Given the description of an element on the screen output the (x, y) to click on. 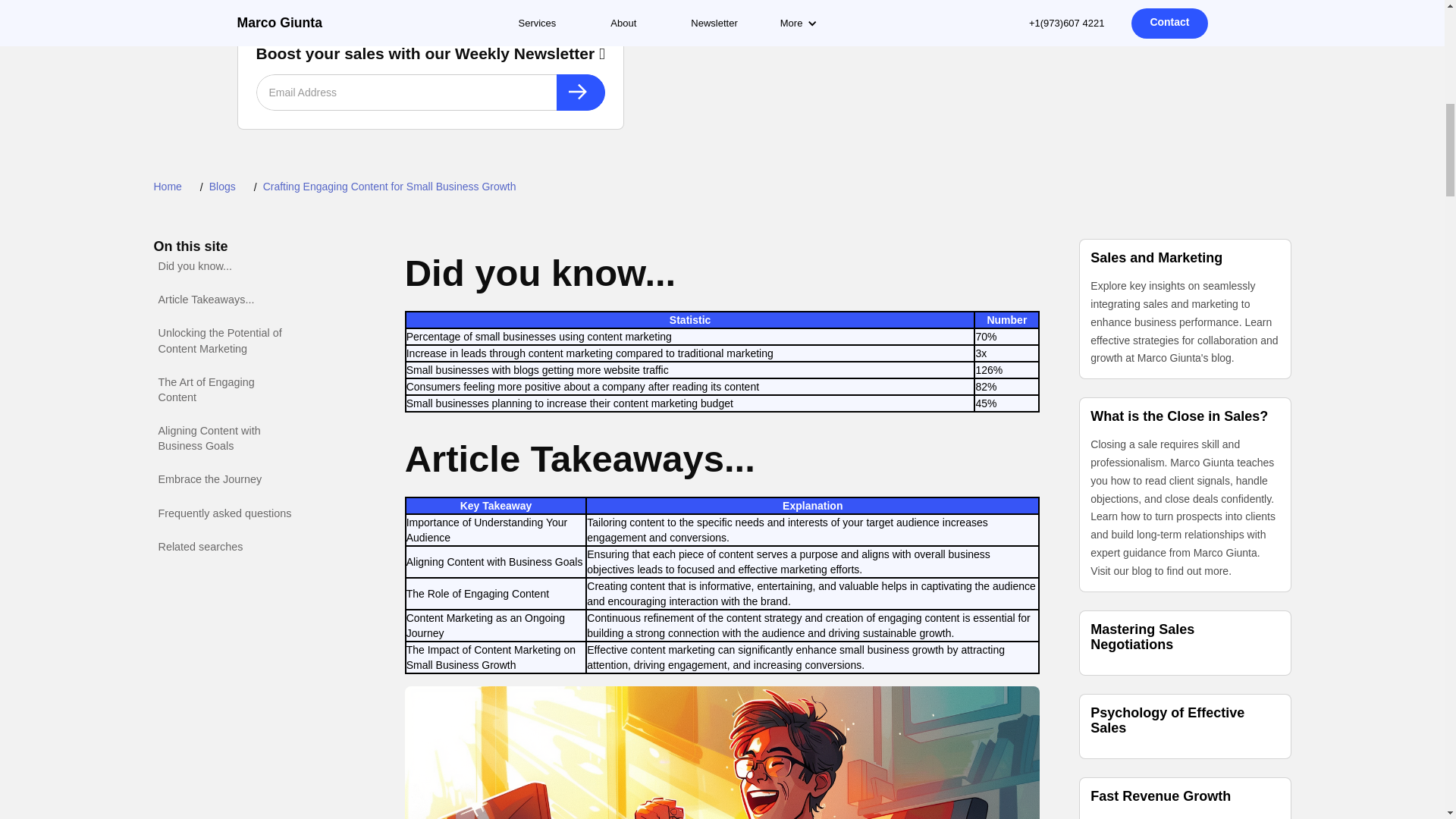
Aligning Content with Business Goals (225, 437)
Did you know... (193, 265)
Blogs (221, 187)
Crafting Engaging Content for Small Business Growth (389, 187)
Frequently asked questions (223, 513)
Article Takeaways... (205, 299)
Erik Von Hollen (325, 3)
Embrace the Journey (209, 478)
Unlocking the Potential of Content Marketing (225, 340)
Home (167, 187)
Related searches (199, 546)
The Art of Engaging Content (225, 389)
